Given the description of an element on the screen output the (x, y) to click on. 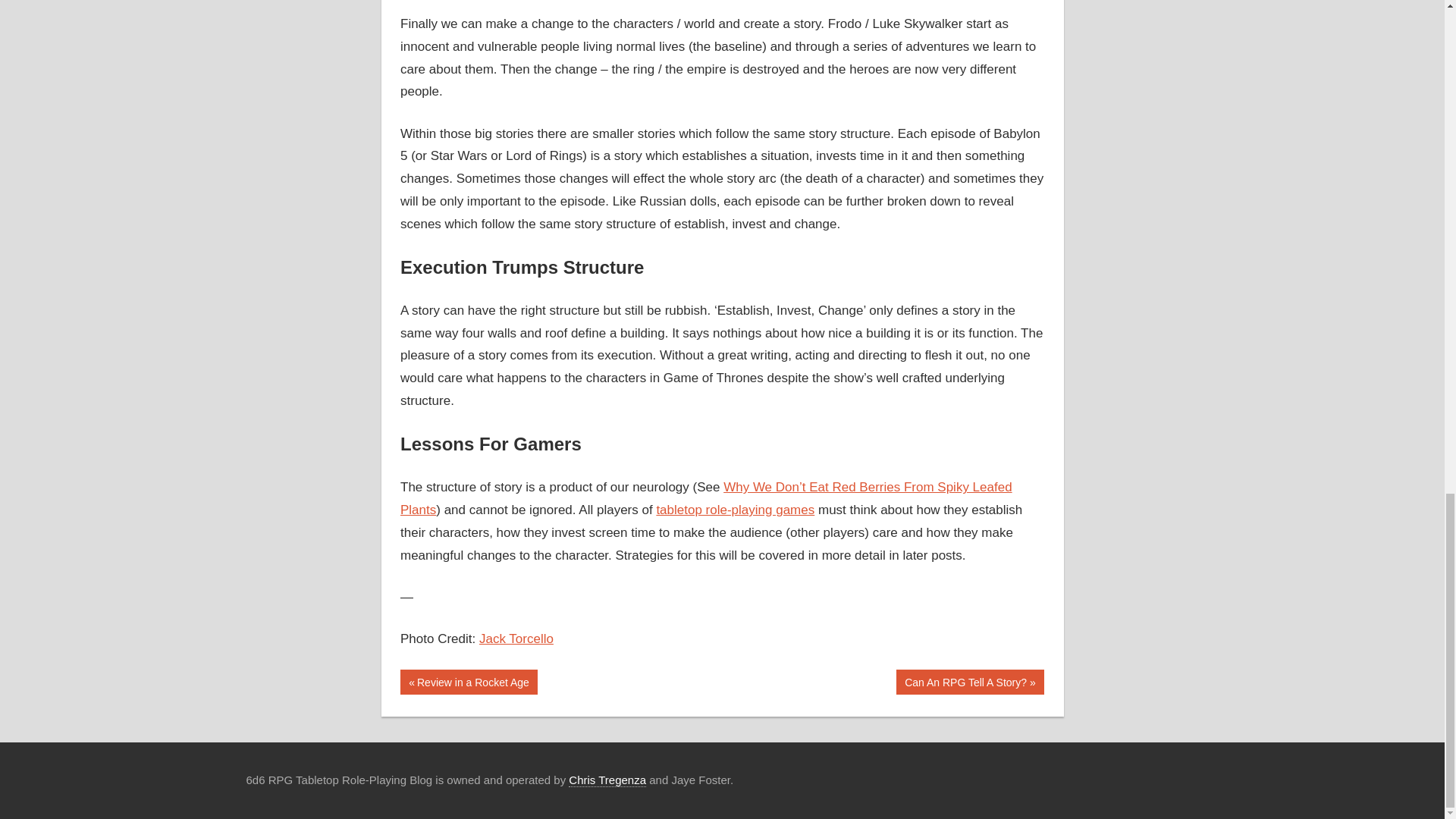
Jack Torcello (468, 681)
tabletop role-playing games (516, 638)
Chris Tregenza (734, 509)
